Given the description of an element on the screen output the (x, y) to click on. 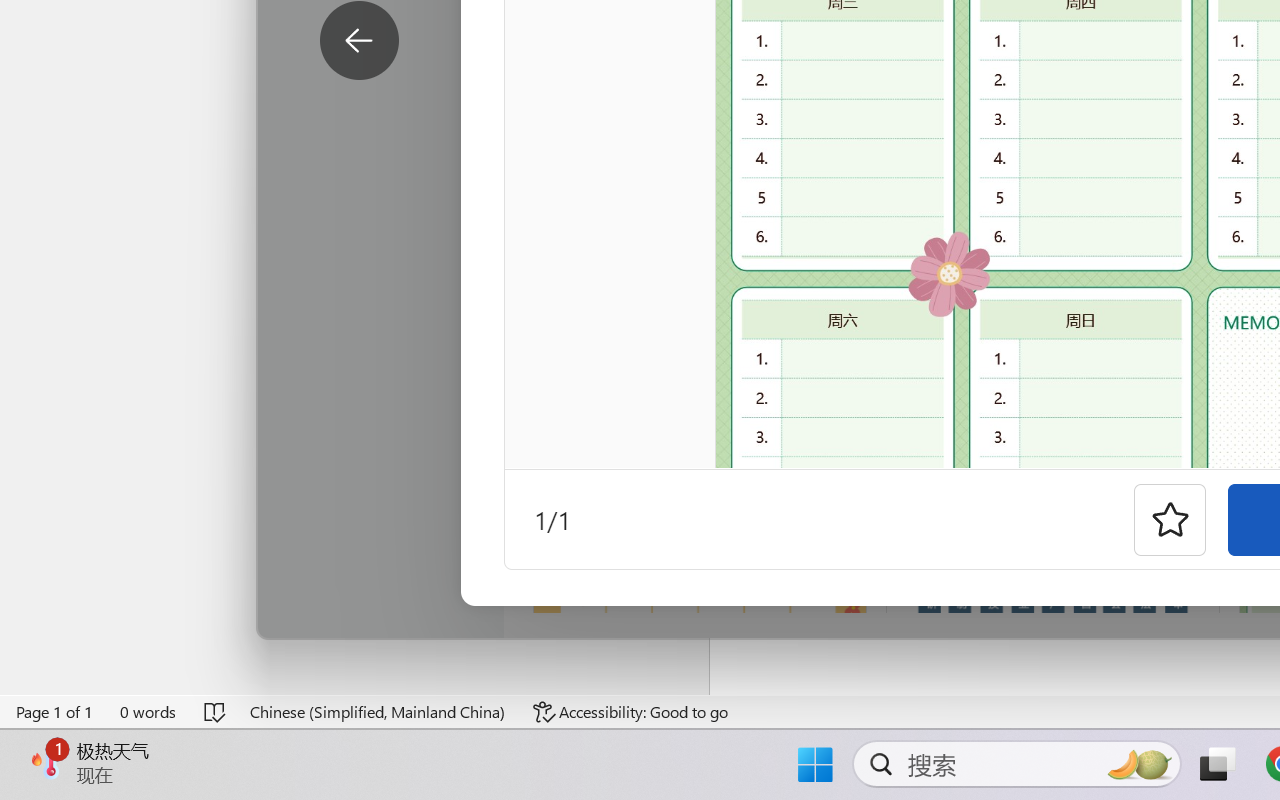
Language Chinese (Simplified, Mainland China) (378, 712)
